Given the description of an element on the screen output the (x, y) to click on. 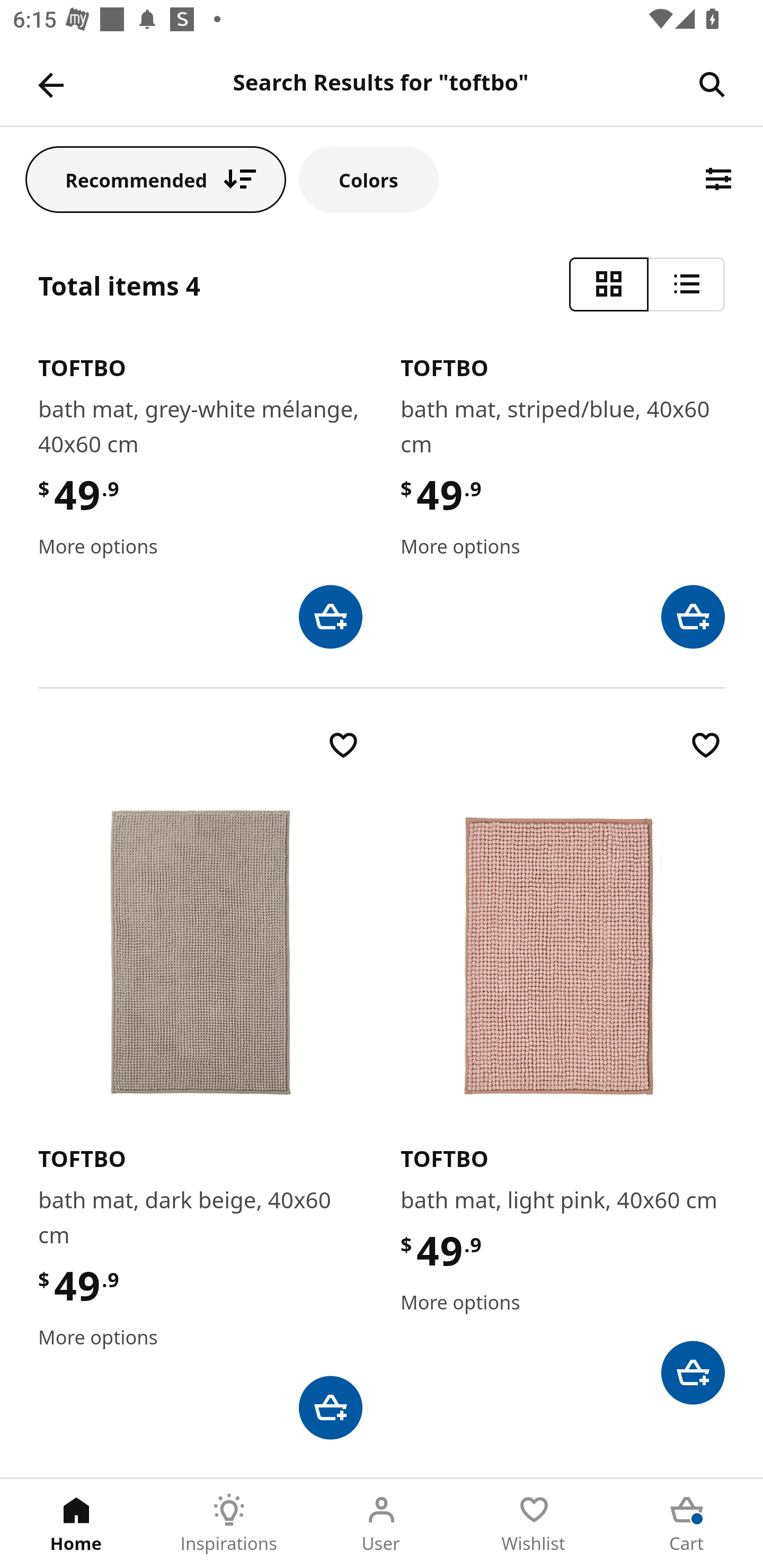
Recommended (155, 179)
Colors (368, 179)
Home
Tab 1 of 5 (76, 1522)
Inspirations
Tab 2 of 5 (228, 1522)
User
Tab 3 of 5 (381, 1522)
Wishlist
Tab 4 of 5 (533, 1522)
Cart
Tab 5 of 5 (686, 1522)
